Given the description of an element on the screen output the (x, y) to click on. 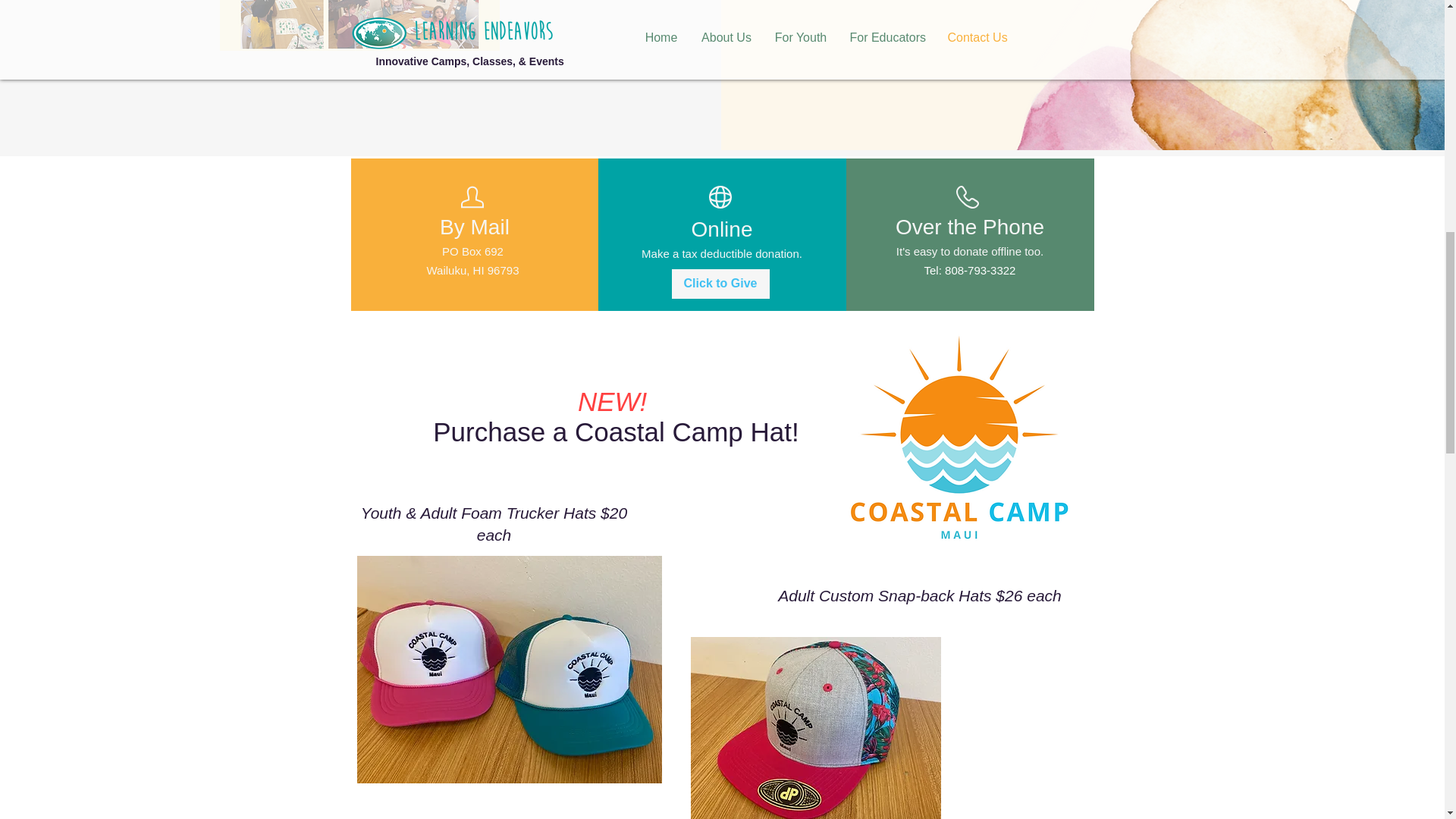
classes and scholarships.png (359, 25)
Click to Give (720, 283)
